Given the description of an element on the screen output the (x, y) to click on. 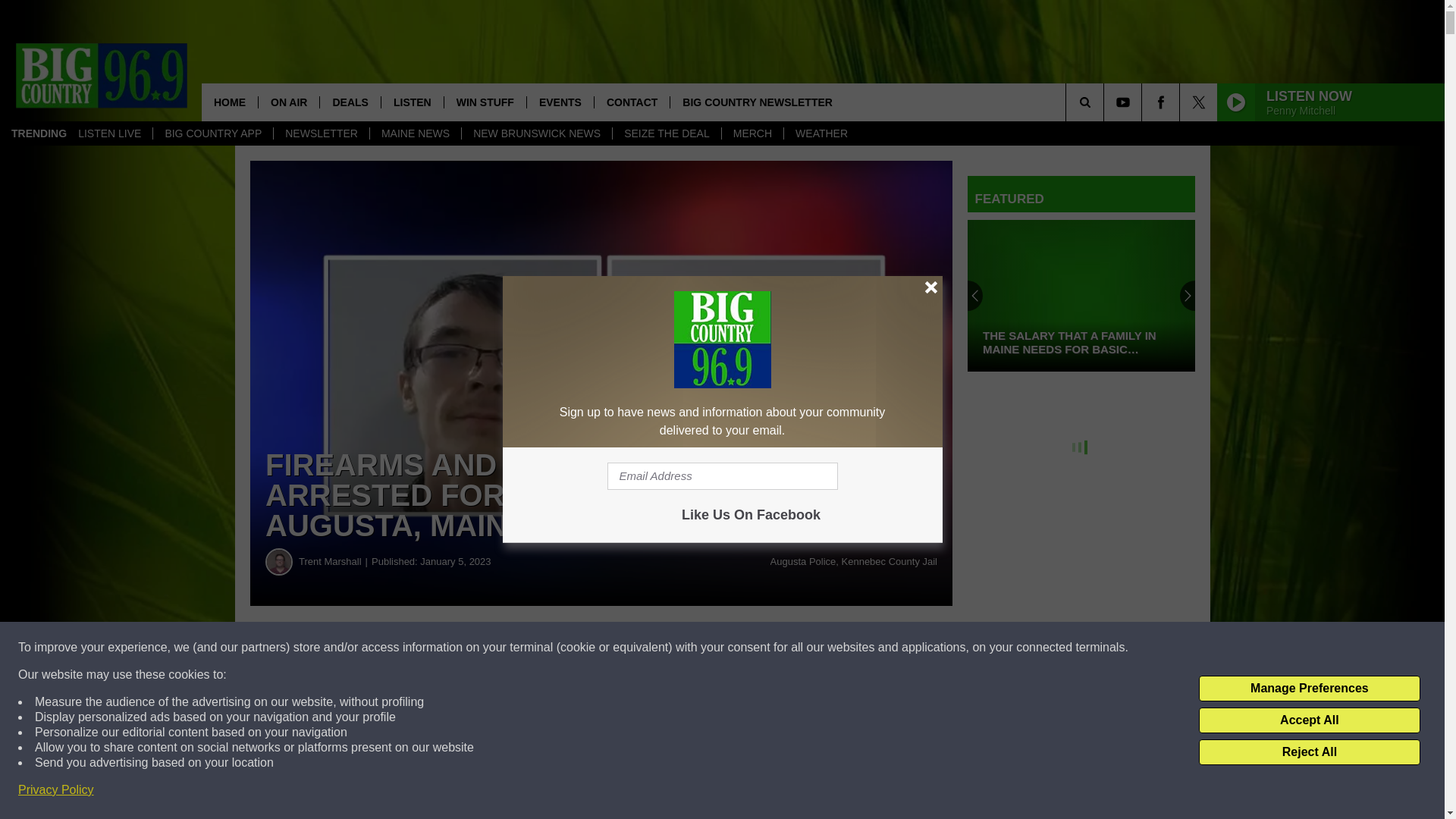
Share on Twitter (741, 647)
Manage Preferences (1309, 688)
Privacy Policy (55, 789)
Reject All (1309, 751)
WIN STUFF (484, 102)
SEIZE THE DEAL (665, 133)
LISTEN (412, 102)
EVENTS (559, 102)
ON AIR (287, 102)
MERCH (751, 133)
Email Address (722, 475)
NEWSLETTER (321, 133)
CONTACT (631, 102)
Share on Facebook (460, 647)
BIG COUNTRY APP (212, 133)
